Given the description of an element on the screen output the (x, y) to click on. 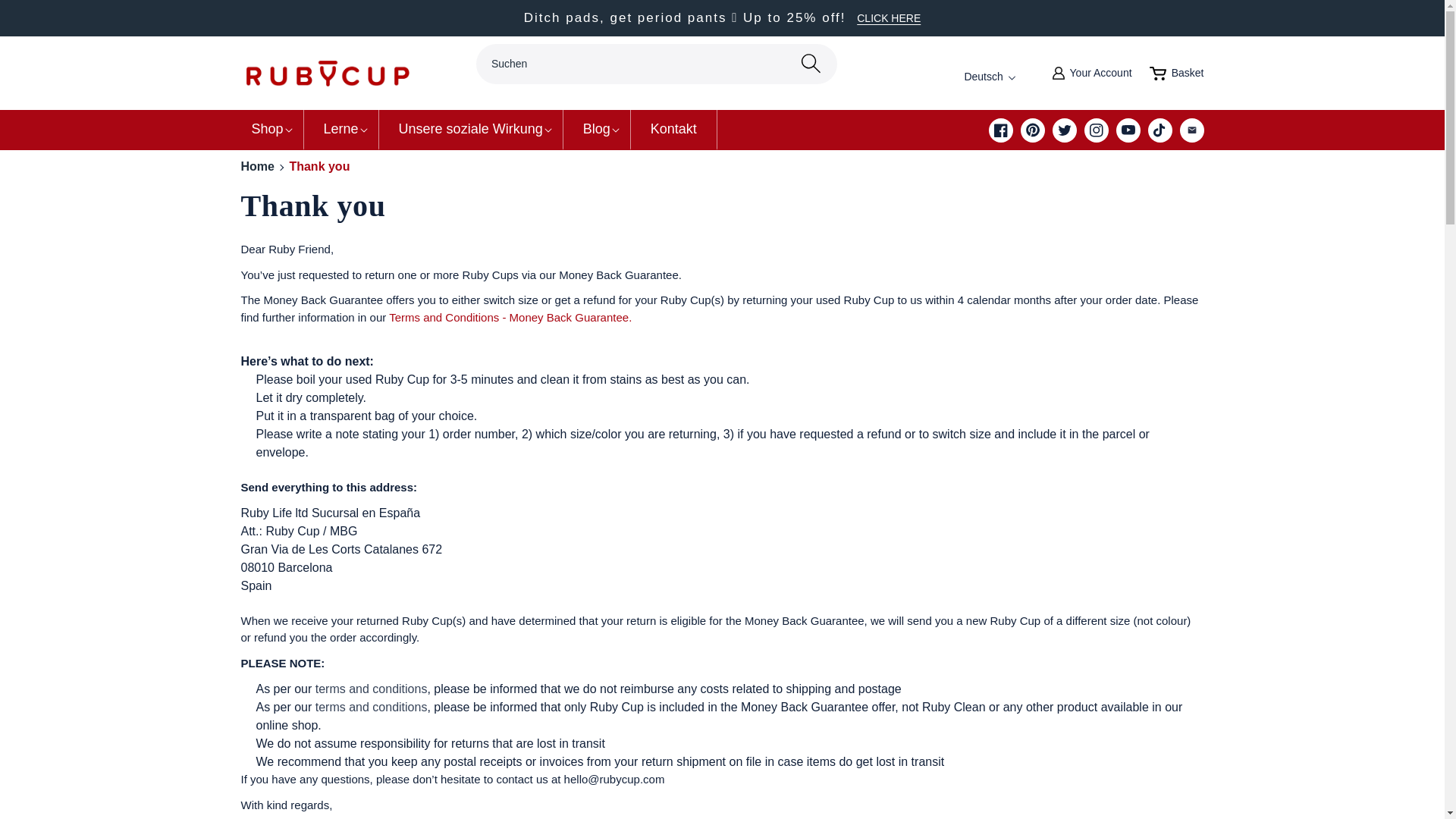
Deutsch (1177, 73)
Terms and Conditions (1001, 76)
Direkt zum Inhalt (371, 707)
Terms and Conditions (45, 29)
CLICK HERE (371, 688)
Shop (888, 18)
Money Back Guarantee (267, 128)
